Given the description of an element on the screen output the (x, y) to click on. 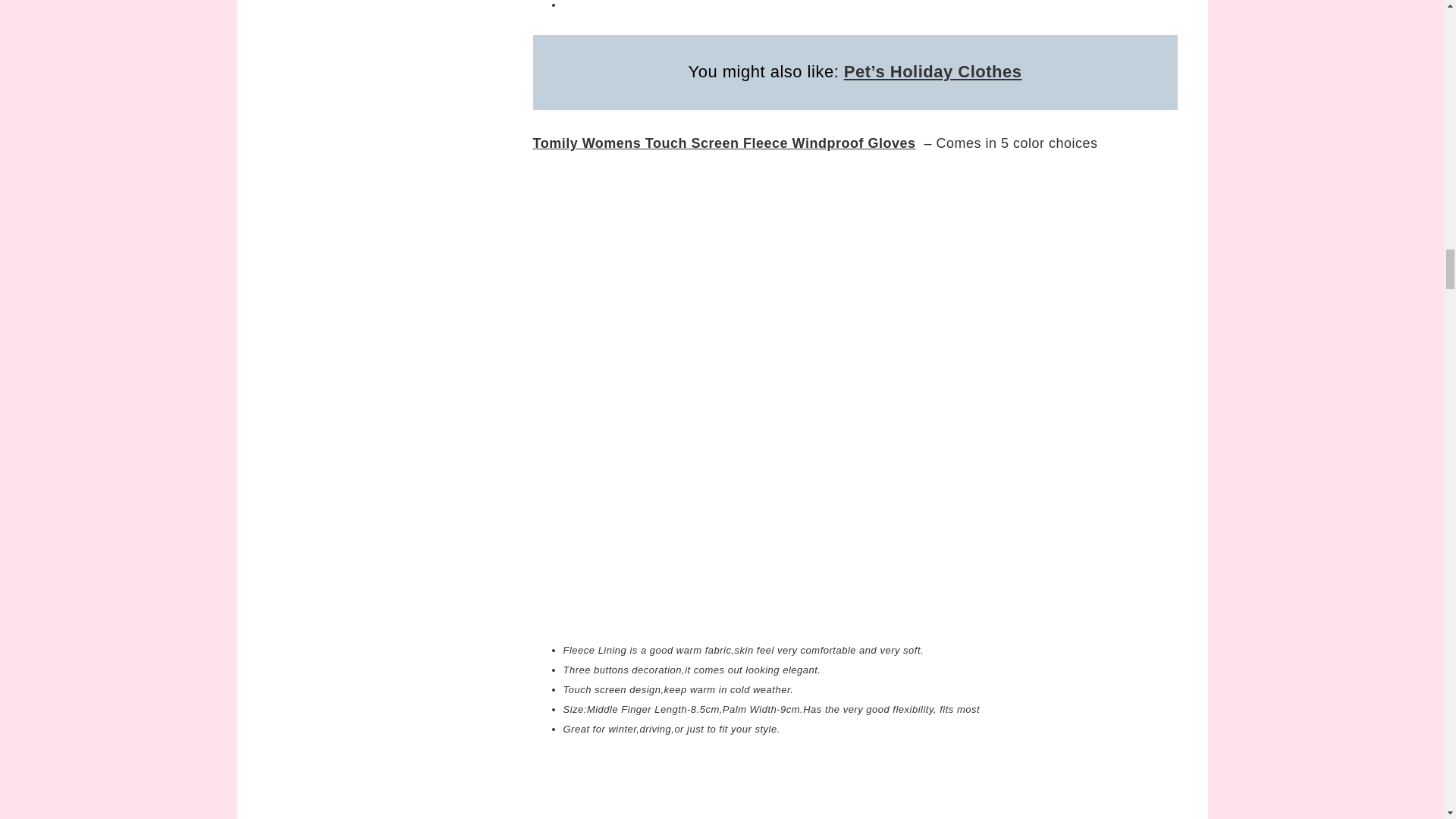
Tomily Womens Touch Screen Fleece Windproof Gloves (723, 142)
